Given the description of an element on the screen output the (x, y) to click on. 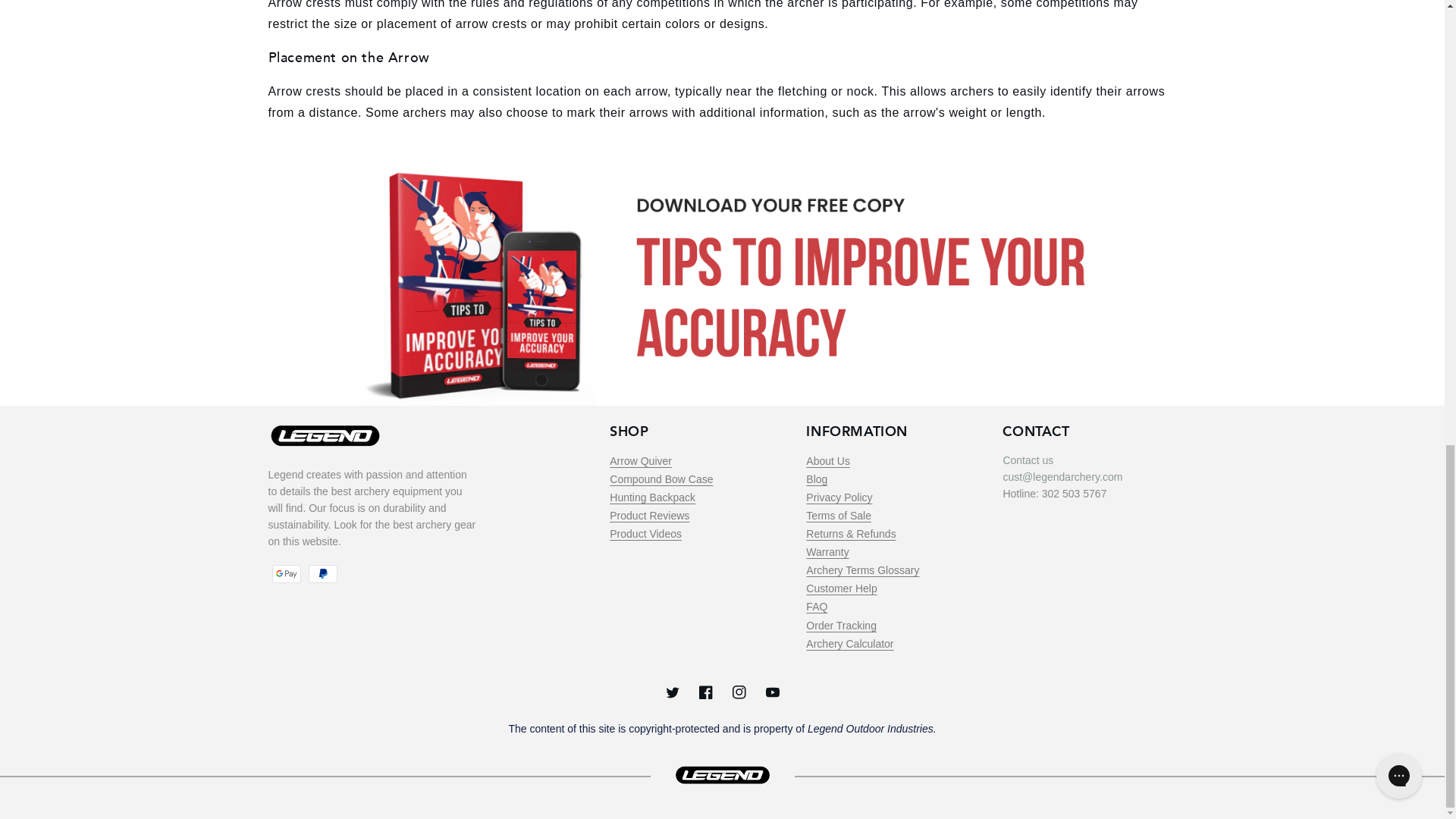
Contact Us (1027, 460)
